Given the description of an element on the screen output the (x, y) to click on. 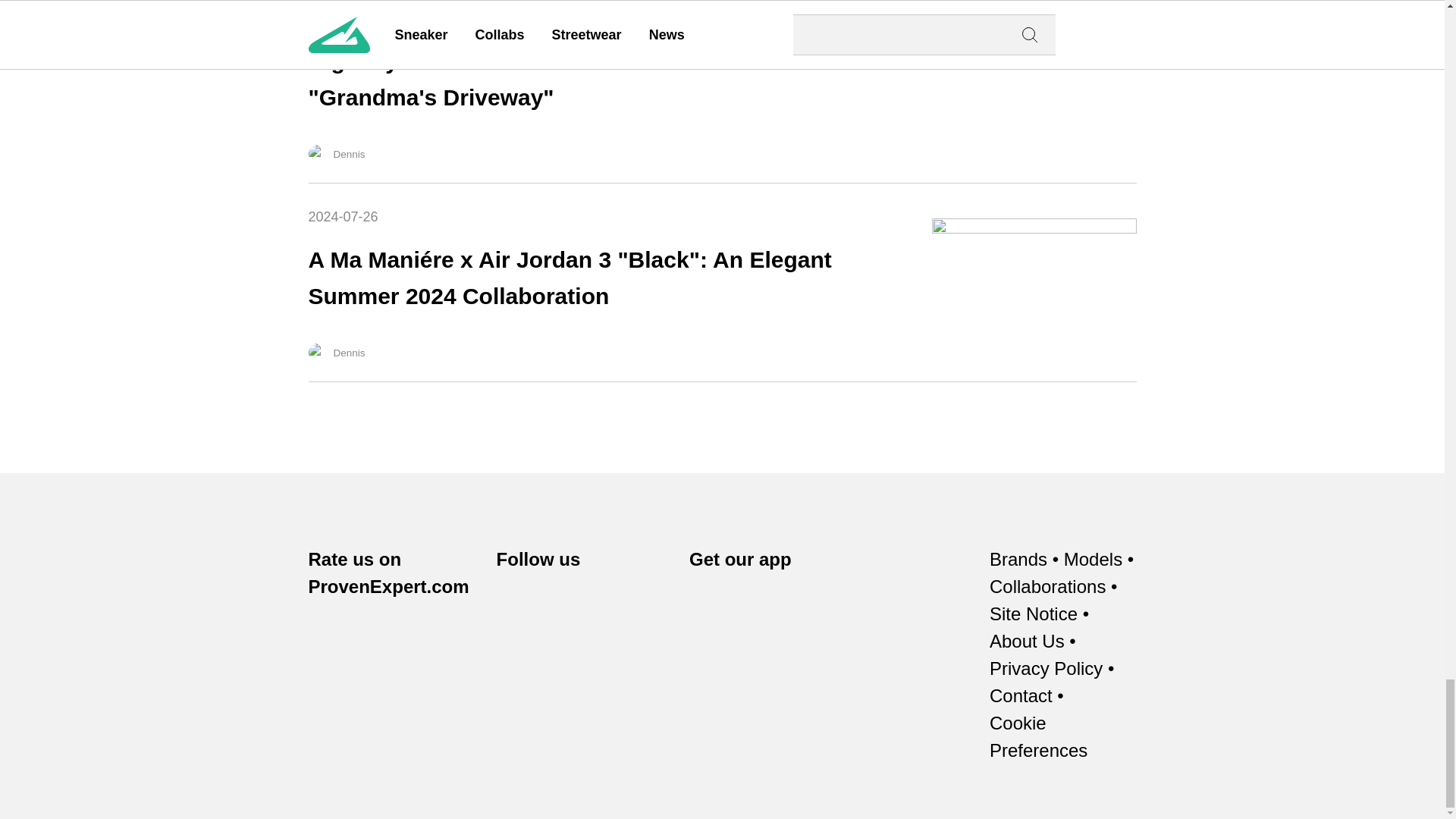
Cookie Preferences (1063, 737)
Collaborations (1047, 586)
Contact (1021, 696)
Privacy Policy (1046, 668)
Brands (1018, 559)
Site Notice (1033, 614)
About Us (1027, 641)
Models (1093, 559)
Dennis (316, 153)
Dennis (316, 352)
